Given the description of an element on the screen output the (x, y) to click on. 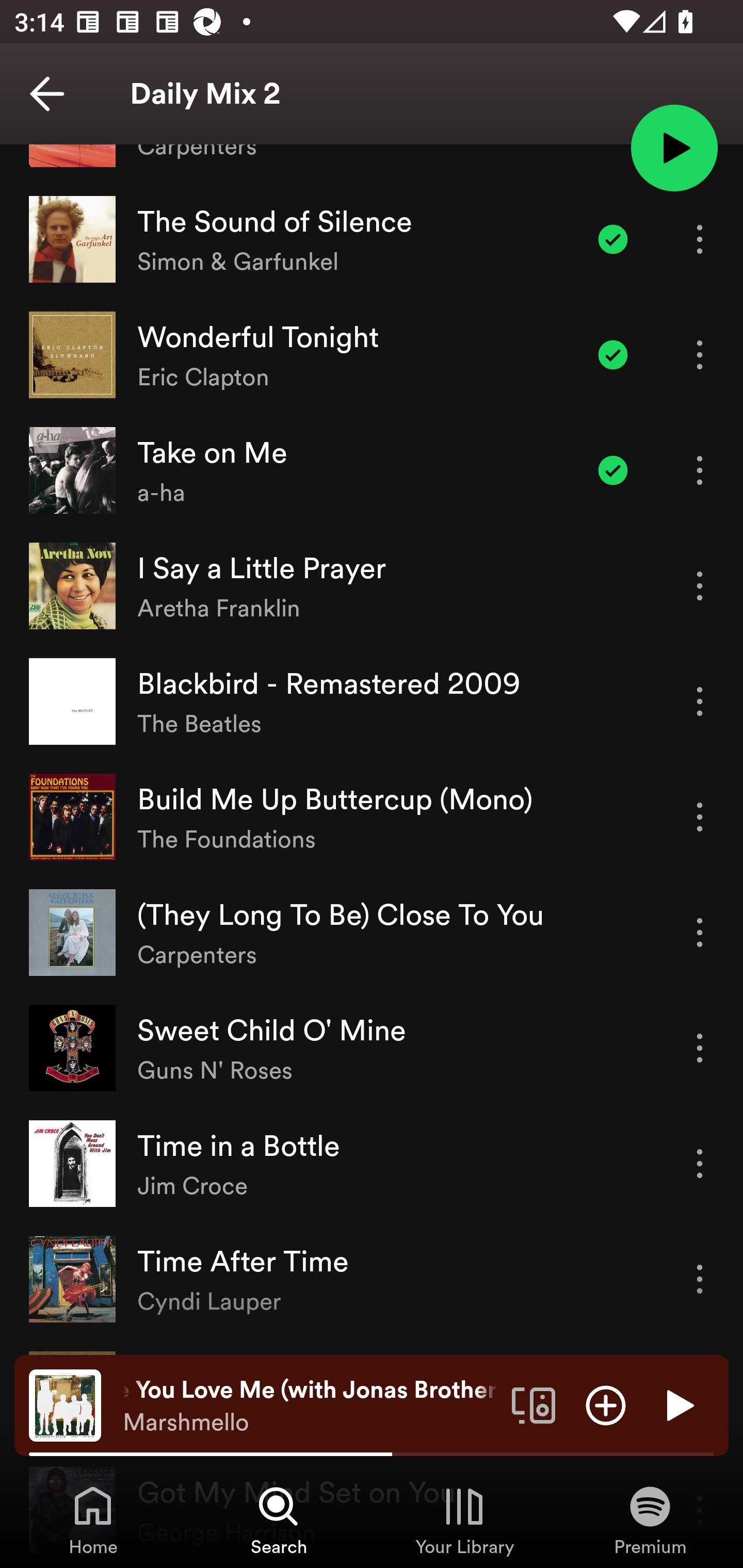
Back (46, 93)
Play playlist (674, 147)
Item added (612, 239)
More options for song The Sound of Silence (699, 239)
Item added (612, 355)
More options for song Wonderful Tonight (699, 355)
Item added (612, 470)
More options for song Take on Me (699, 470)
More options for song I Say a Little Prayer (699, 585)
More options for song Blackbird - Remastered 2009 (699, 701)
More options for song Build Me Up Buttercup (Mono) (699, 816)
